Given the description of an element on the screen output the (x, y) to click on. 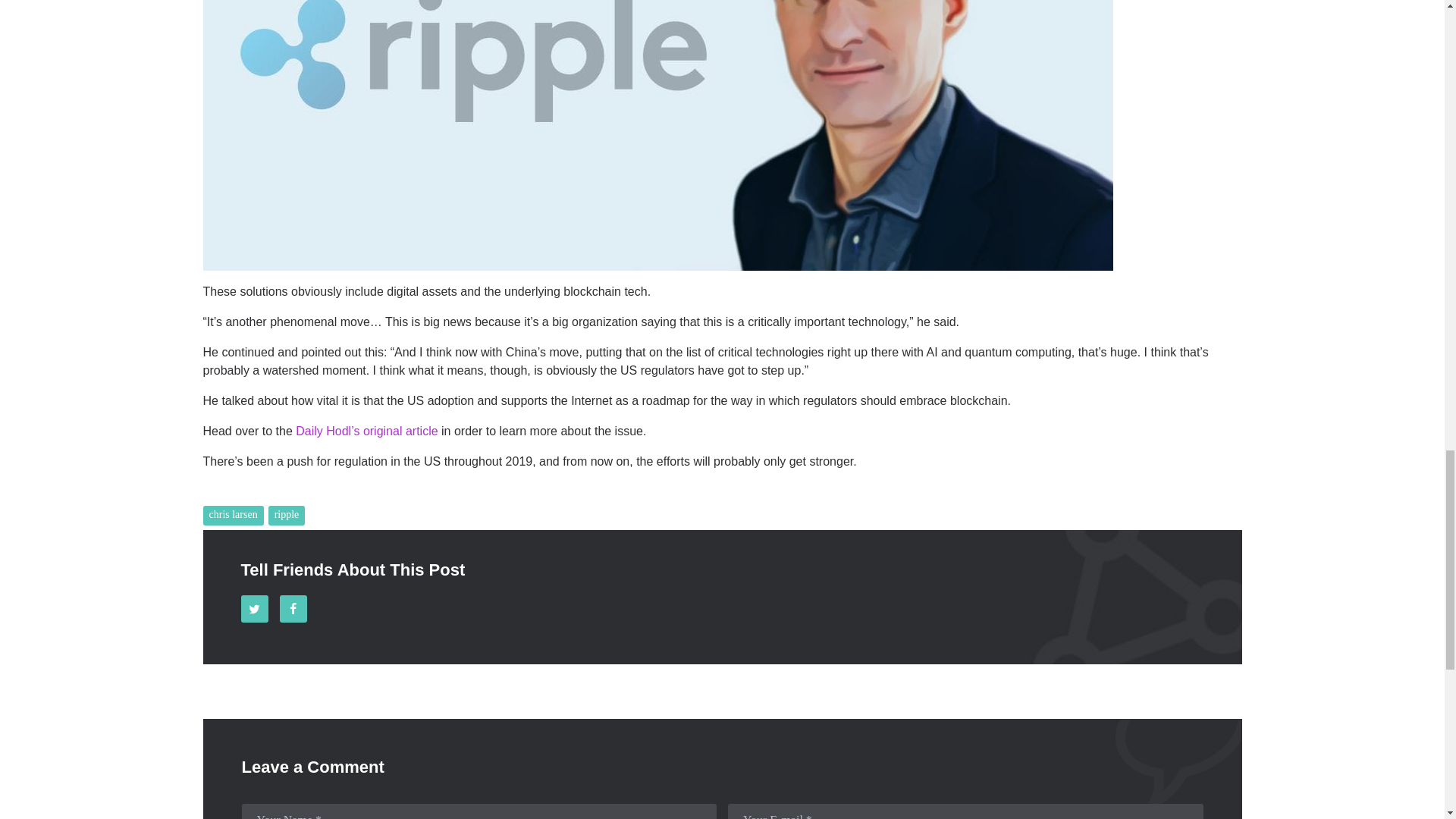
ripple (286, 515)
chris larsen (233, 515)
